Given the description of an element on the screen output the (x, y) to click on. 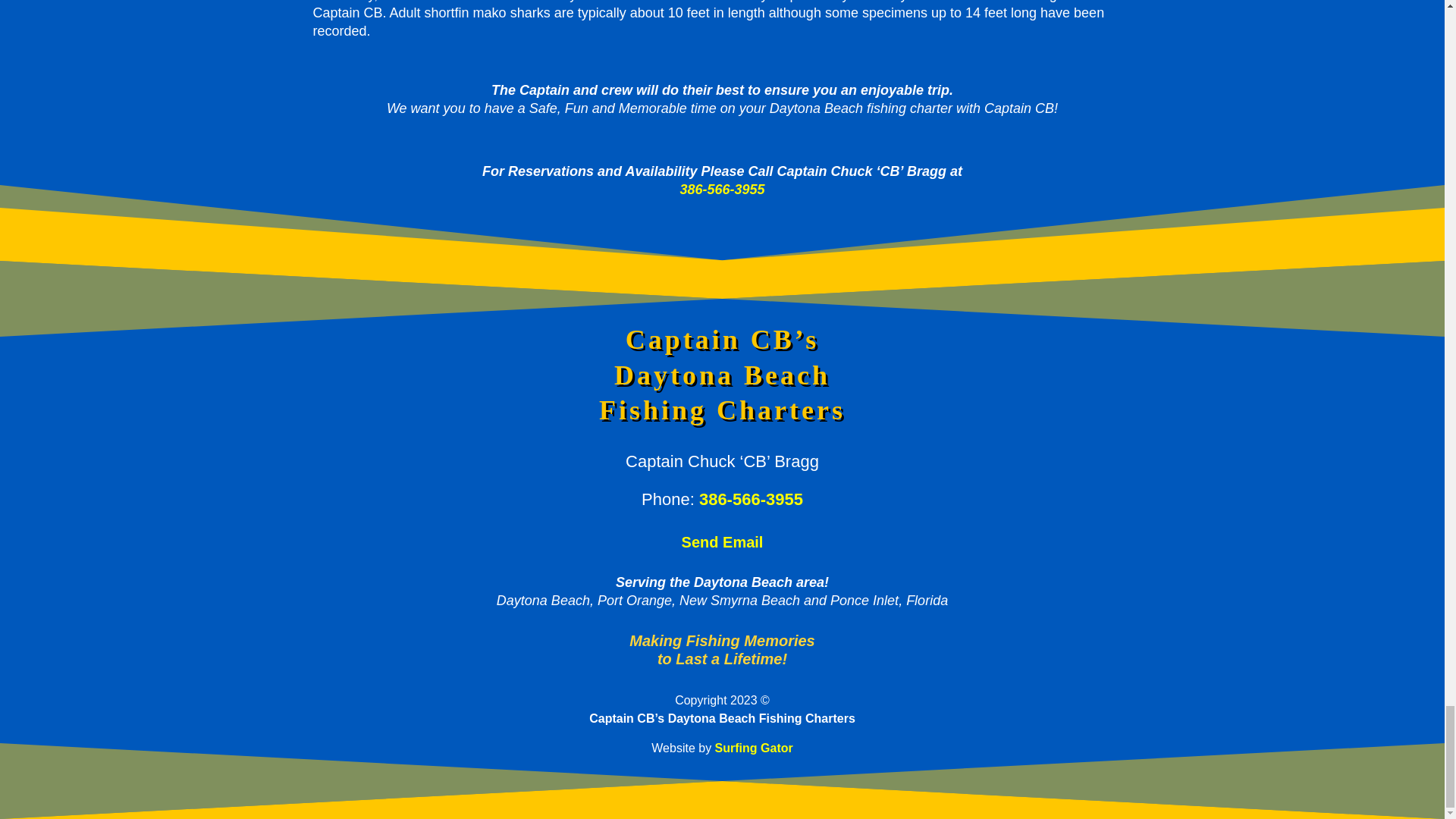
386-566-3955 (721, 189)
Send Email (721, 541)
Surfing Gator (753, 748)
386-566-3955 (750, 498)
